Given the description of an element on the screen output the (x, y) to click on. 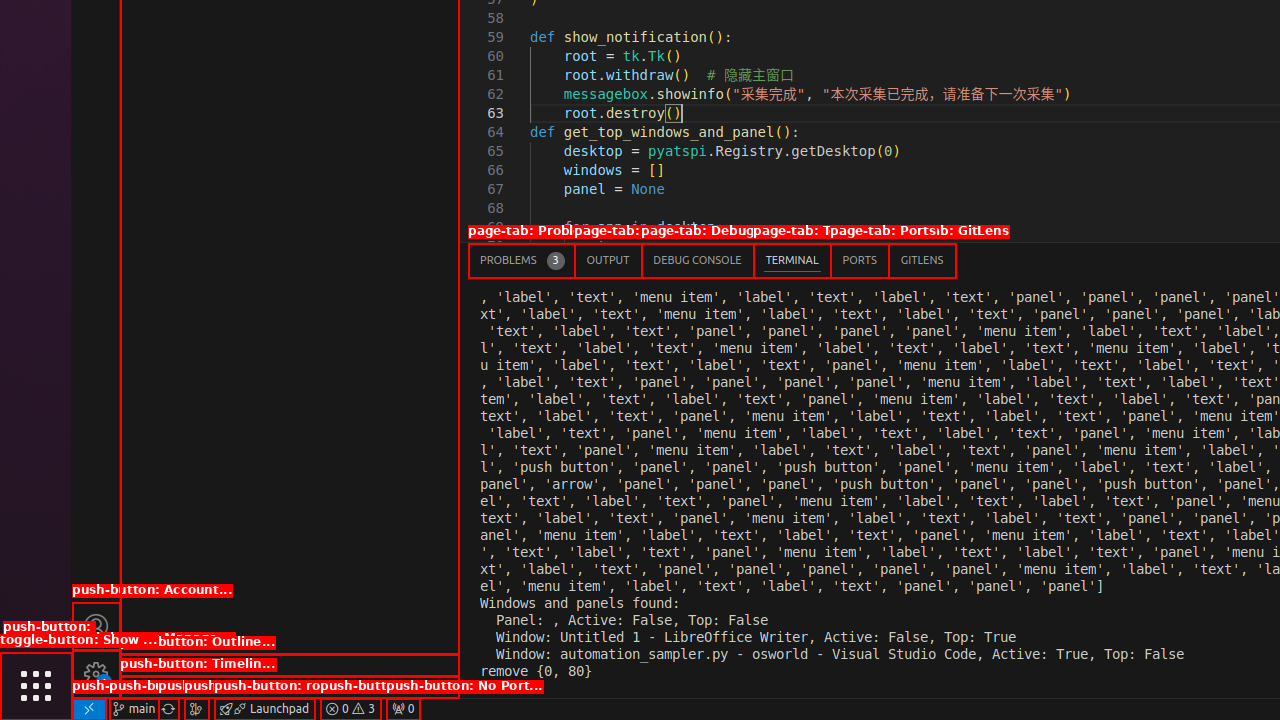
Outline Section Element type: push-button (289, 665)
Warnings: 3 Element type: push-button (350, 709)
Ports Element type: page-tab (859, 260)
Accounts Element type: push-button (96, 626)
Terminal (Ctrl+`) Element type: page-tab (792, 260)
